Given the description of an element on the screen output the (x, y) to click on. 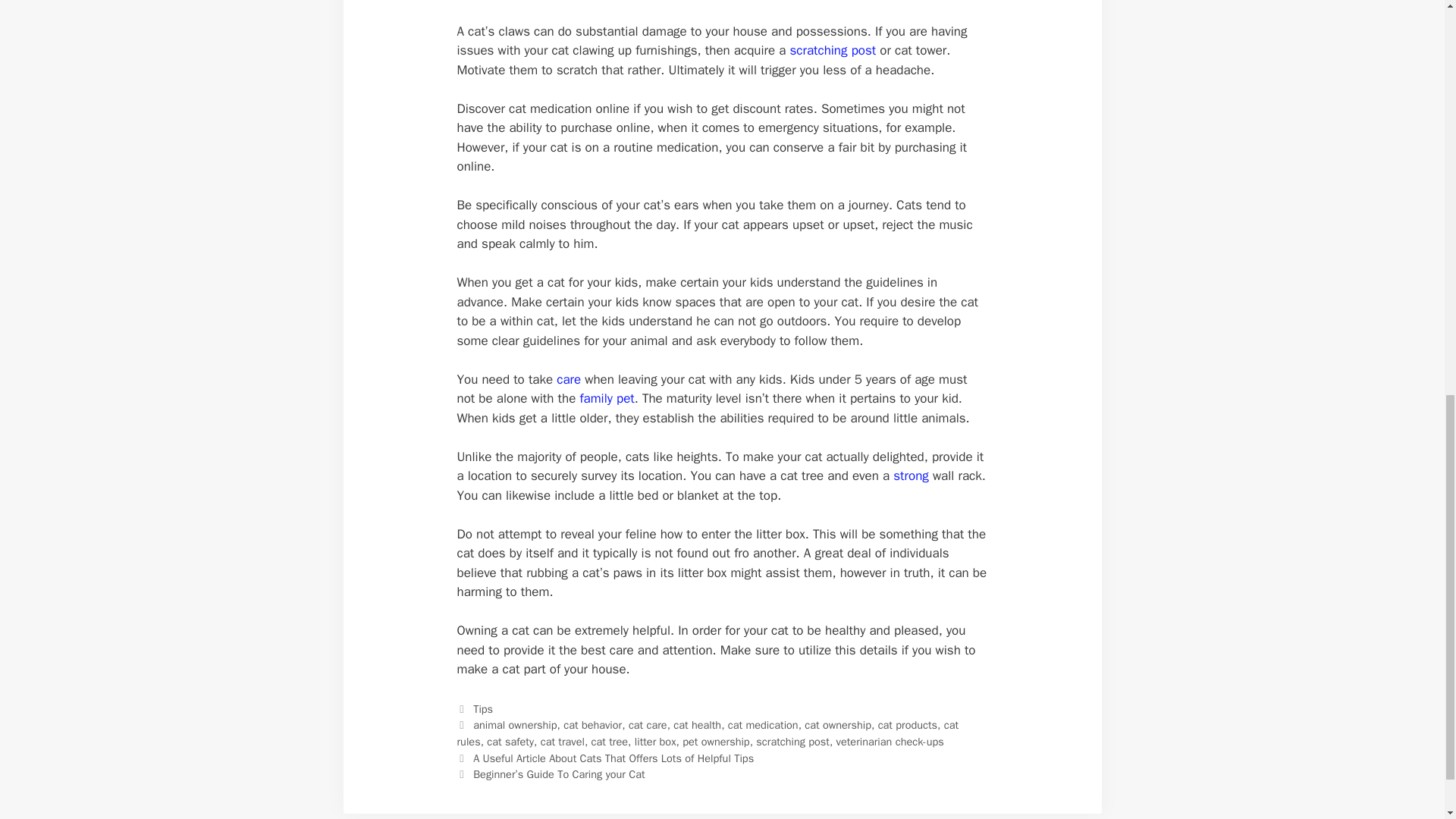
cat travel (562, 741)
strong (910, 475)
cat products (907, 725)
cat care (647, 725)
pet ownership (715, 741)
animal ownership (514, 725)
care (568, 379)
litter box (655, 741)
cat health (696, 725)
cat ownership (837, 725)
